Given the description of an element on the screen output the (x, y) to click on. 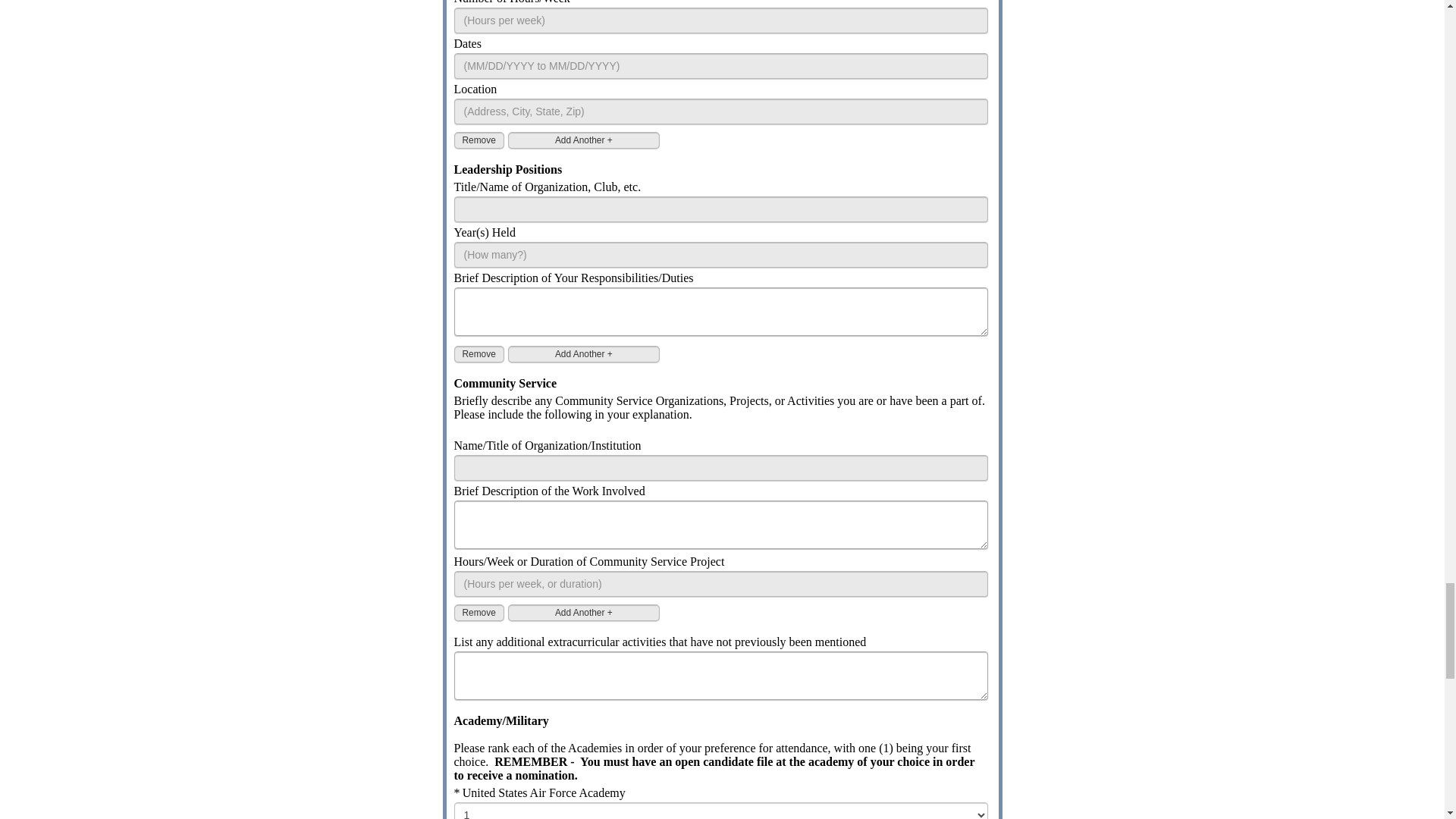
Remove (477, 353)
Remove (477, 139)
Remove (477, 612)
